Given the description of an element on the screen output the (x, y) to click on. 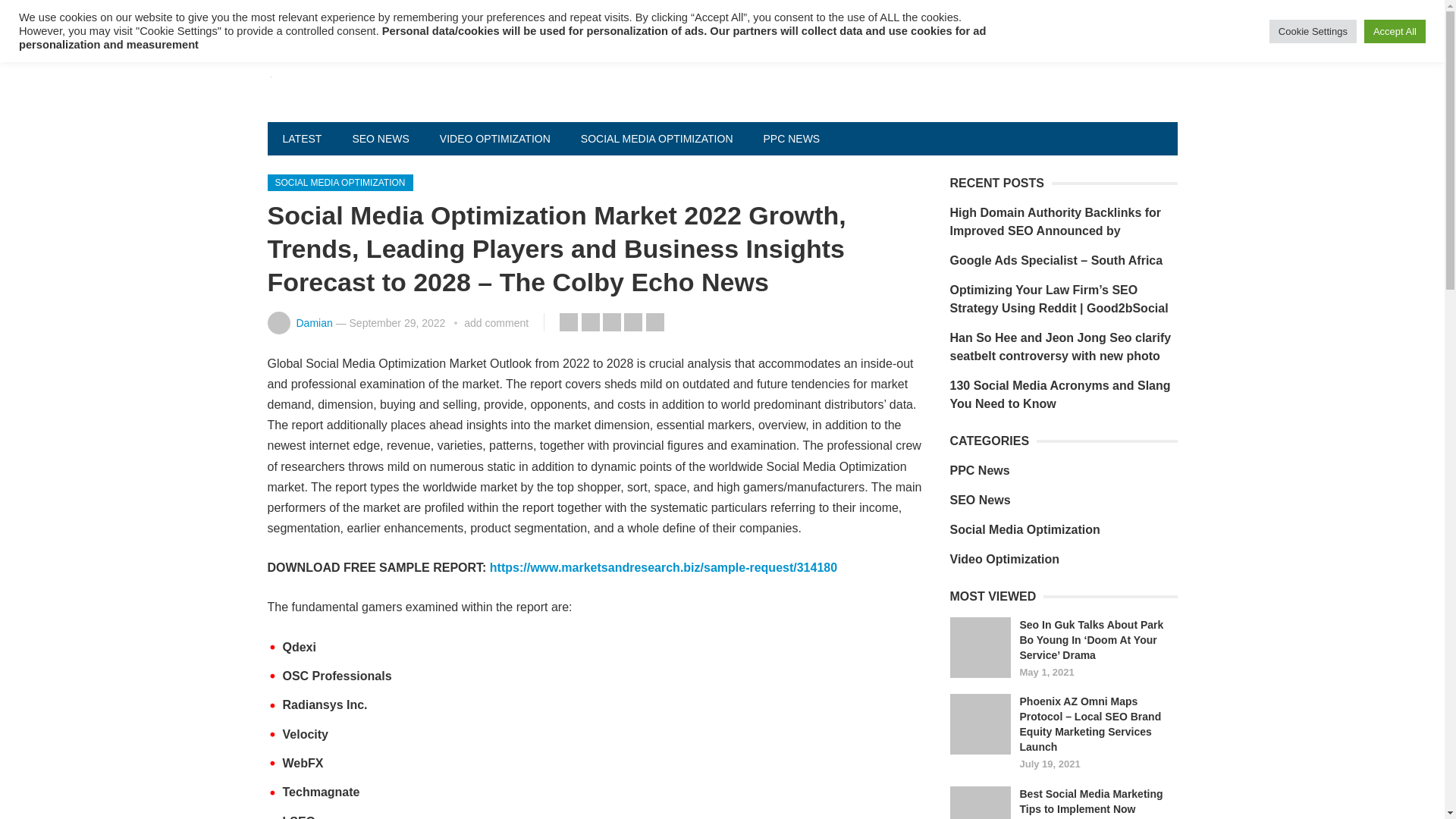
Advertisement (638, 15)
Best Social Media Marketing Tips to Implement Now (979, 802)
Privacy Policy (458, 15)
Contact Us (368, 15)
add comment (496, 322)
Home (296, 15)
Posts by Damian (313, 322)
SEO NEWS (379, 138)
LATEST (301, 138)
VIDEO OPTIMIZATION (495, 138)
